Given the description of an element on the screen output the (x, y) to click on. 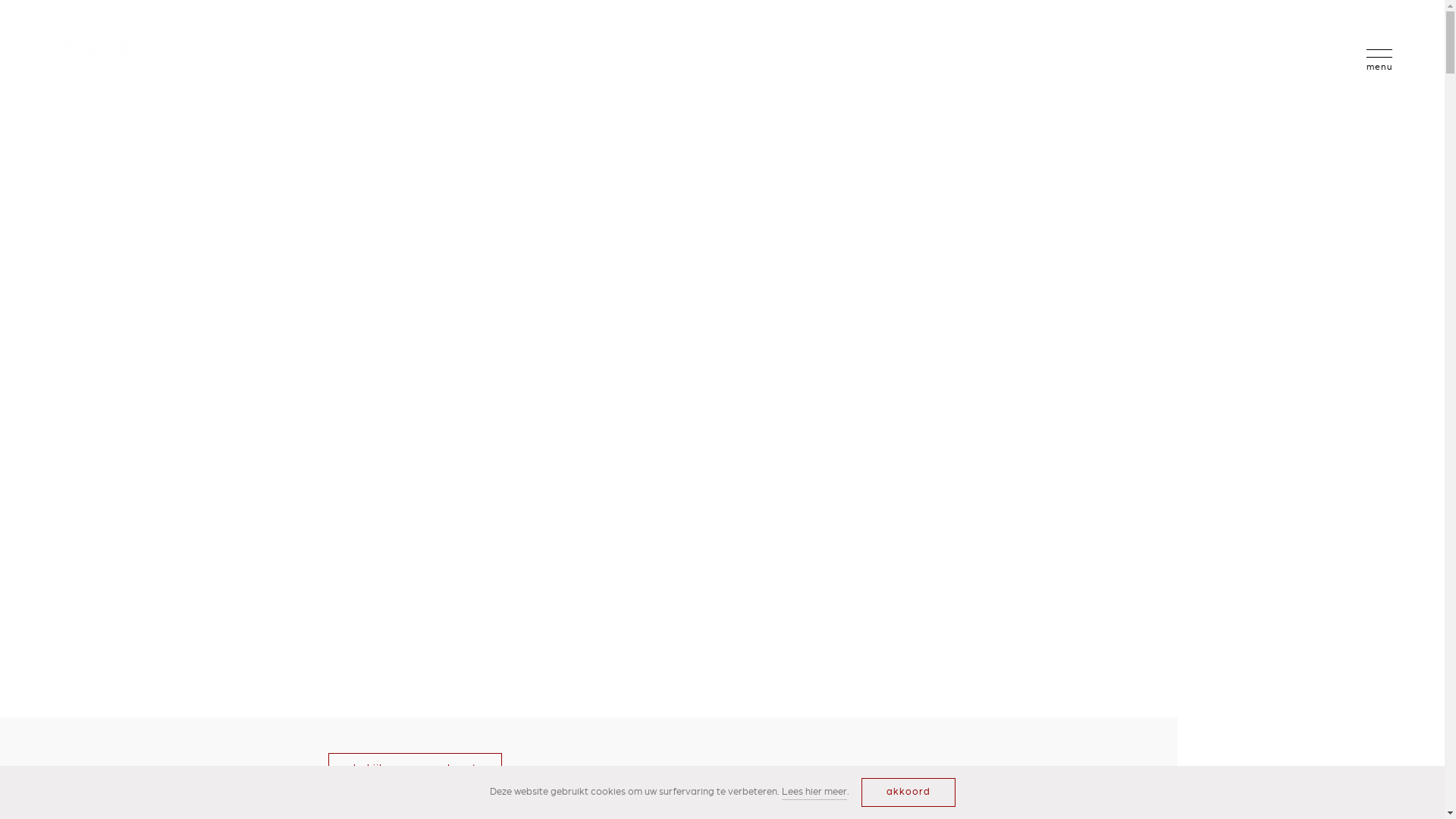
akkoord Element type: text (908, 792)
Logo Starckx Created with Sketch. Element type: text (97, 57)
bekijk onze menukaart Element type: text (414, 768)
menu Element type: text (1379, 58)
Lees hier meer Element type: text (813, 792)
